Given the description of an element on the screen output the (x, y) to click on. 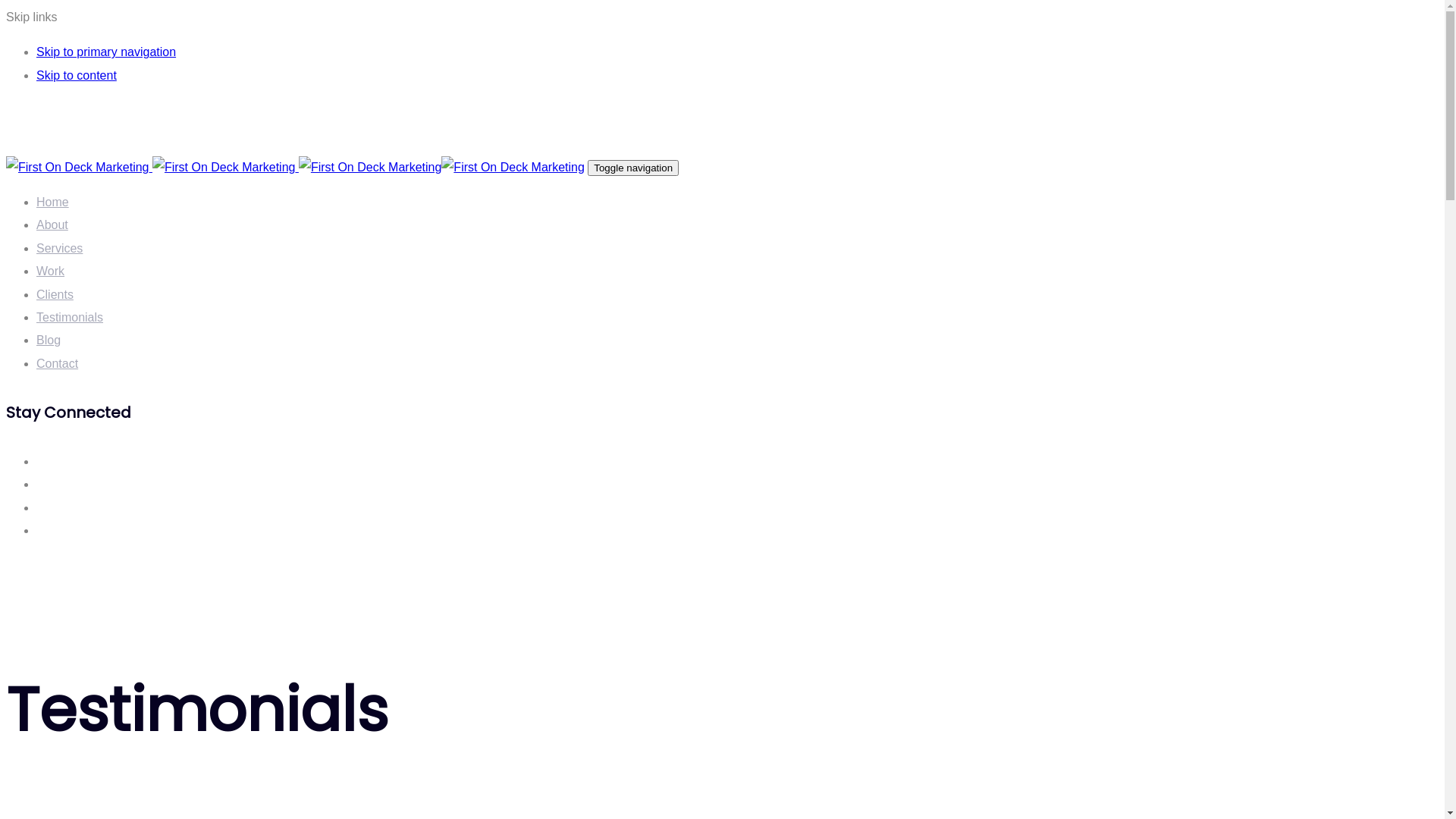
Services Element type: text (59, 247)
Home Element type: text (52, 201)
Blog Element type: text (48, 339)
Testimonials Element type: text (69, 316)
Skip to content Element type: text (76, 75)
Clients Element type: text (54, 294)
Toggle navigation Element type: text (632, 167)
Work Element type: text (50, 270)
Skip to primary navigation Element type: text (105, 51)
Contact Element type: text (57, 363)
About Element type: text (52, 224)
